Given the description of an element on the screen output the (x, y) to click on. 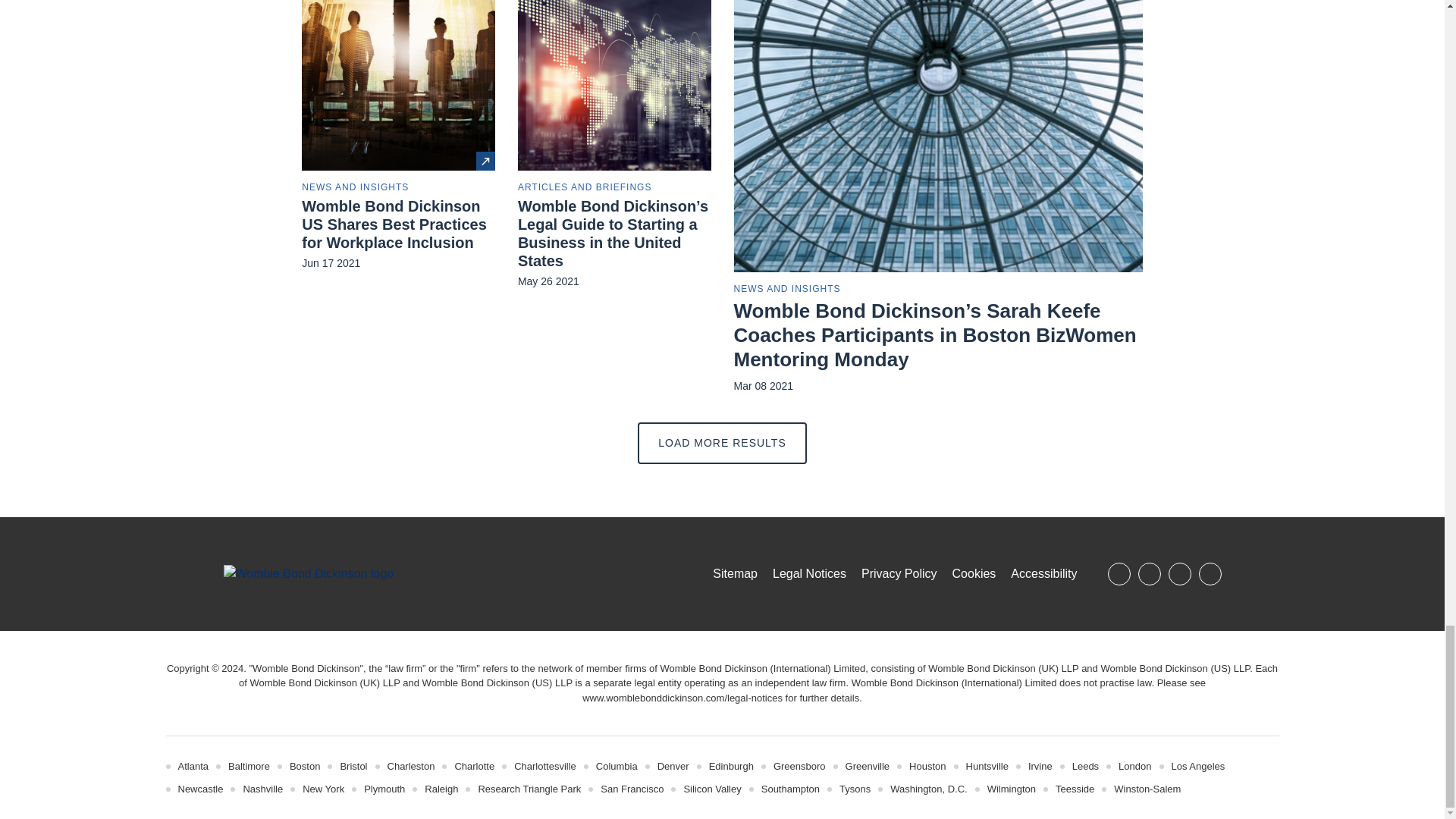
Charlottesville, VA, US (544, 766)
Atlanta, GA, US (192, 766)
Greenville, SC, US (867, 766)
Bristol (352, 766)
Boston, MA, US (304, 766)
Go to next page (721, 443)
Greensboro, NC, US (799, 766)
Columbia, SC, US (616, 766)
Legal Notices (682, 697)
Baltimore, MD, US (248, 766)
Edinburgh (731, 766)
Charlotte, NC, US (474, 766)
Charleston, SC, US (411, 766)
Denver, CO, US (673, 766)
